Given the description of an element on the screen output the (x, y) to click on. 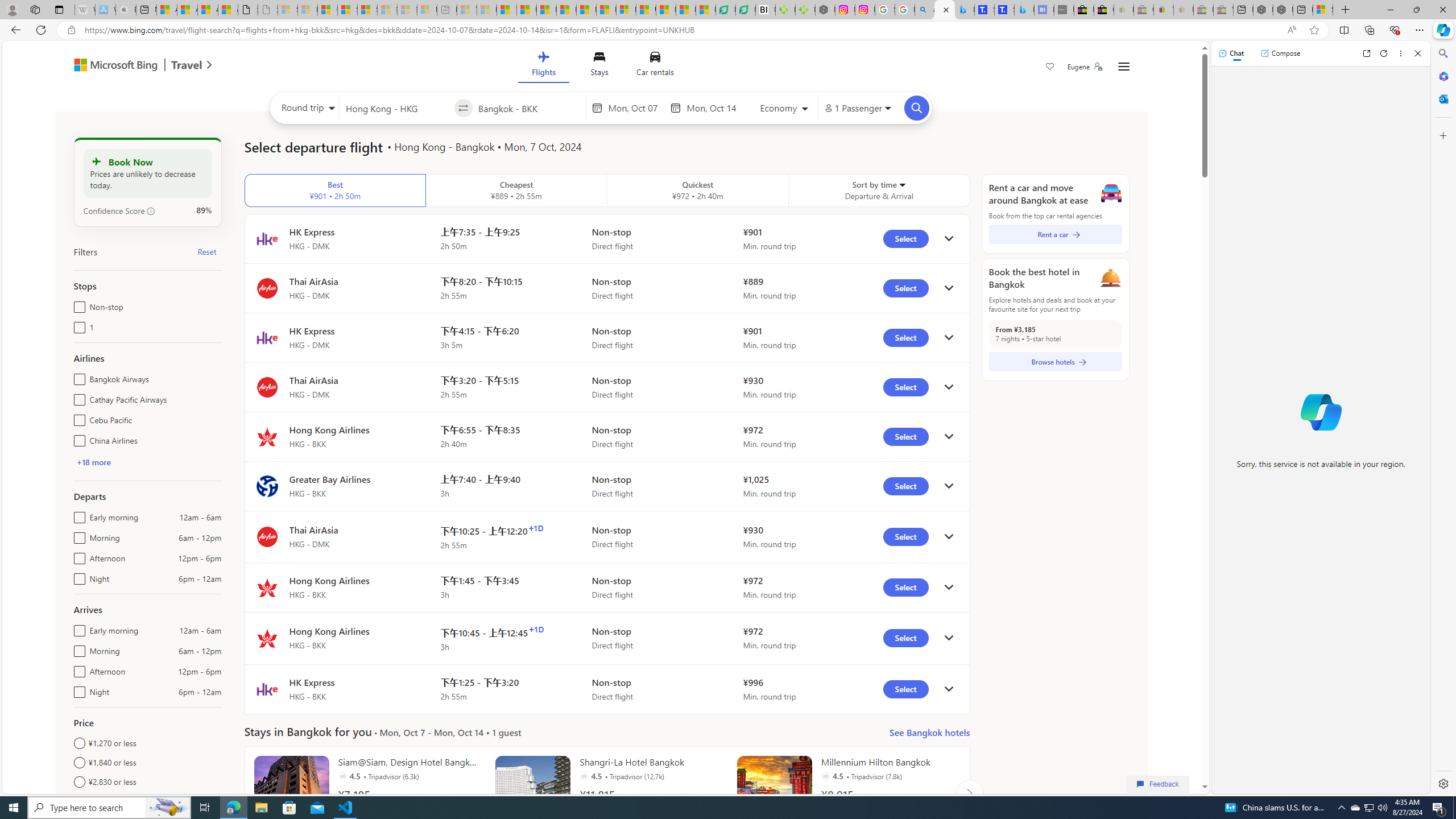
Cebu Pacific (76, 417)
Click to scroll right (968, 792)
Nordace - Summer Adventures 2024 (1282, 9)
Night6pm - 12am (76, 689)
Save (1049, 67)
Buy iPad - Apple - Sleeping (125, 9)
Top Stories - MSN - Sleeping (466, 9)
Threats and offensive language policy | eBay (1162, 9)
Chat (1231, 52)
